Given the description of an element on the screen output the (x, y) to click on. 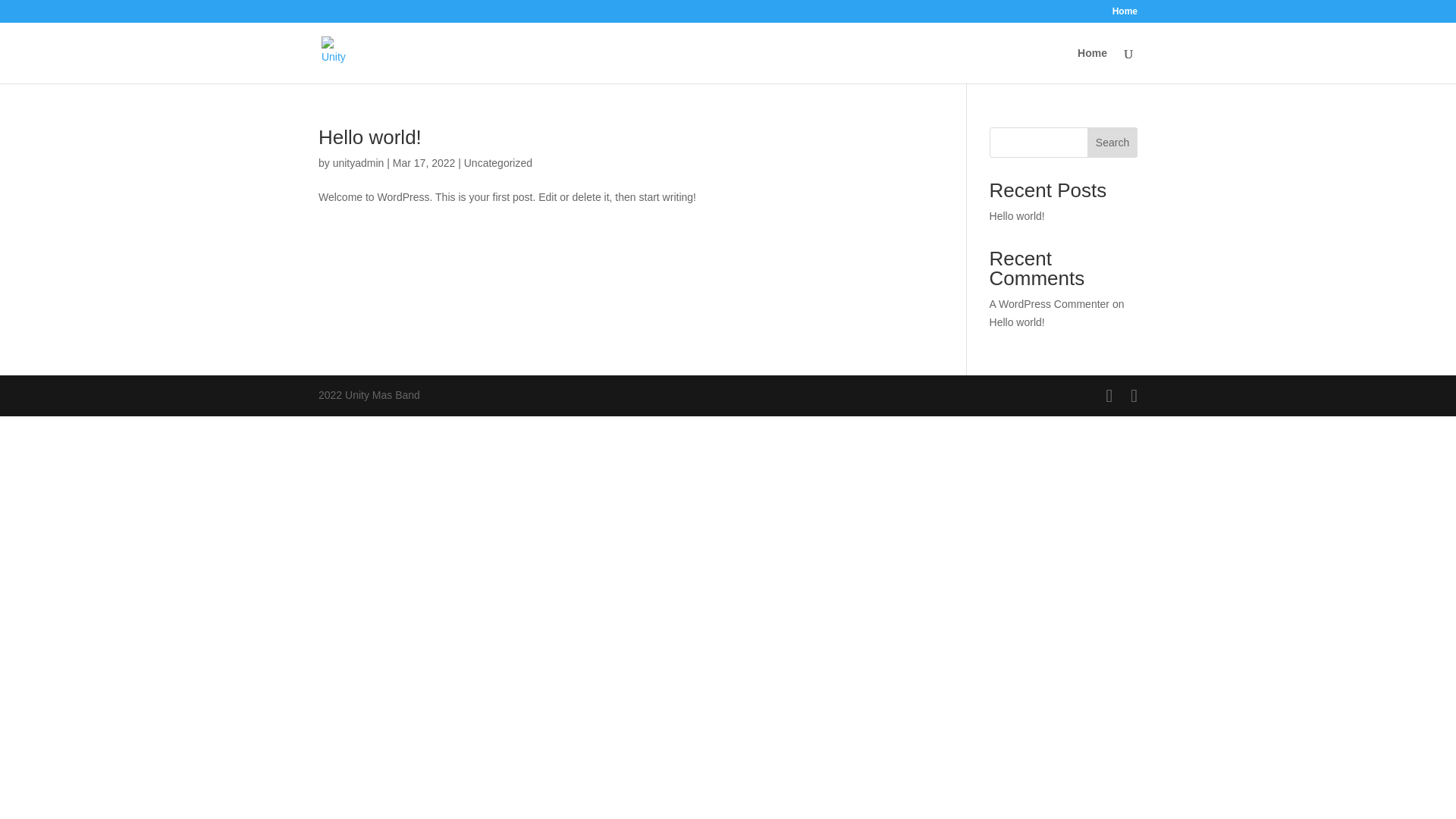
A WordPress Commenter Element type: text (1049, 304)
Uncategorized Element type: text (498, 162)
Hello world! Element type: text (1016, 322)
Hello world! Element type: text (369, 136)
Home Element type: text (1092, 65)
Home Element type: text (1124, 14)
unityadmin Element type: text (358, 162)
Search Element type: text (1112, 142)
Hello world! Element type: text (1016, 216)
